Given the description of an element on the screen output the (x, y) to click on. 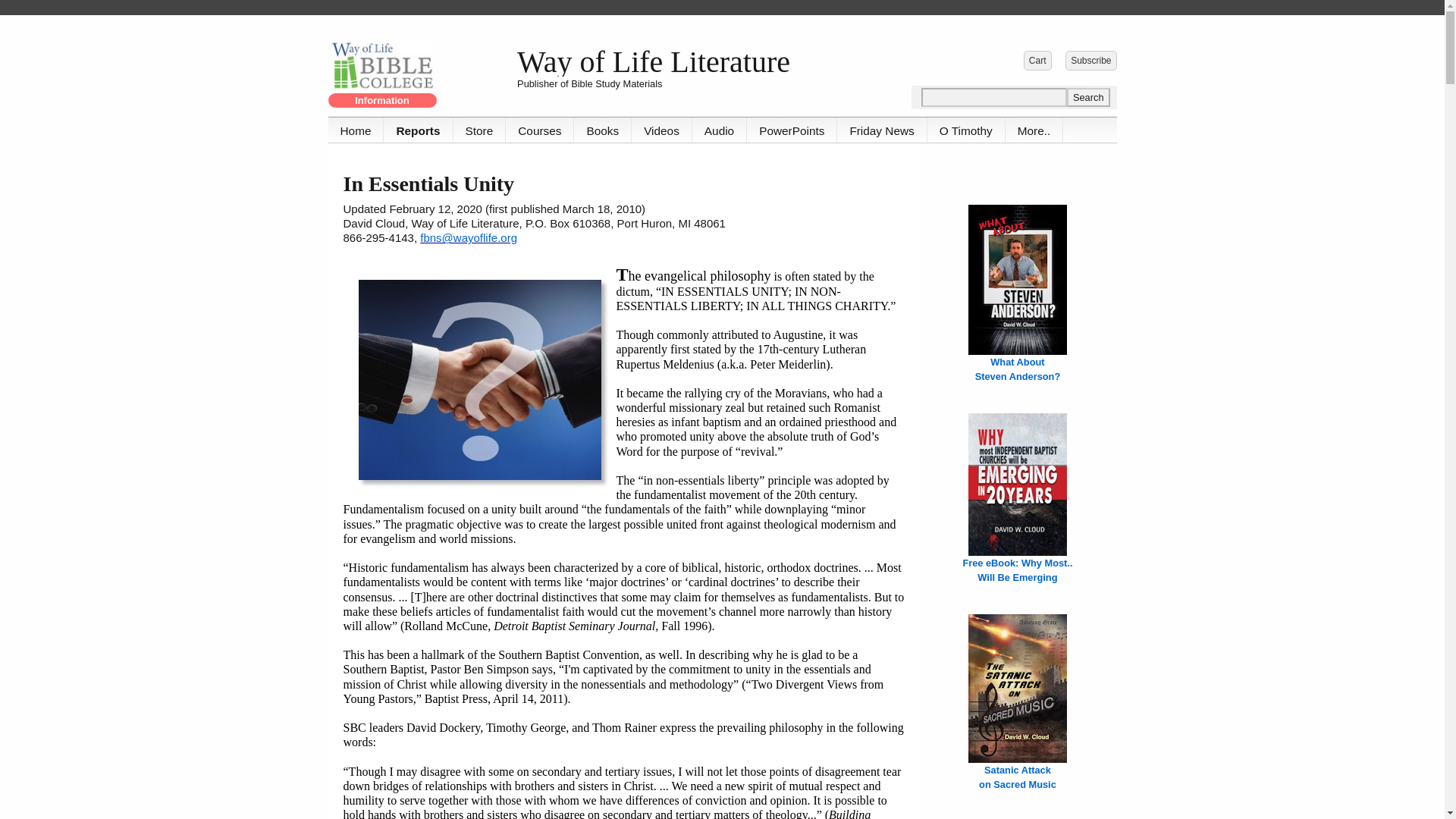
Courses (539, 130)
Subscribe (1090, 60)
PowerPoints (791, 130)
Reports (418, 130)
Audio (719, 130)
Search (1088, 97)
More.. (1035, 130)
Cart (1037, 60)
Home (355, 130)
Search (1088, 97)
Books (602, 130)
O Timothy (966, 130)
Friday News (881, 130)
Videos (662, 130)
Store (479, 130)
